Given the description of an element on the screen output the (x, y) to click on. 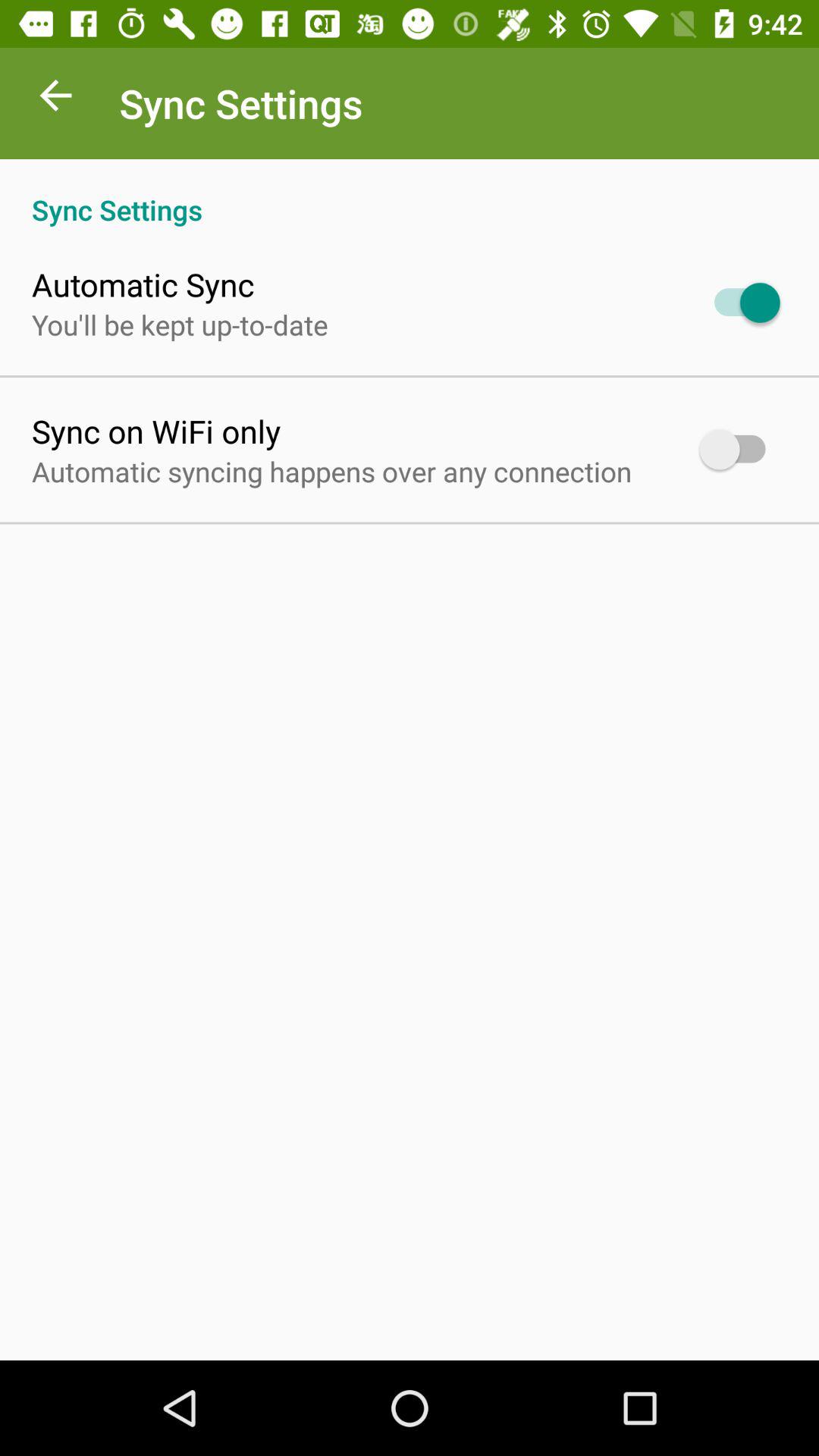
go back (55, 99)
